Given the description of an element on the screen output the (x, y) to click on. 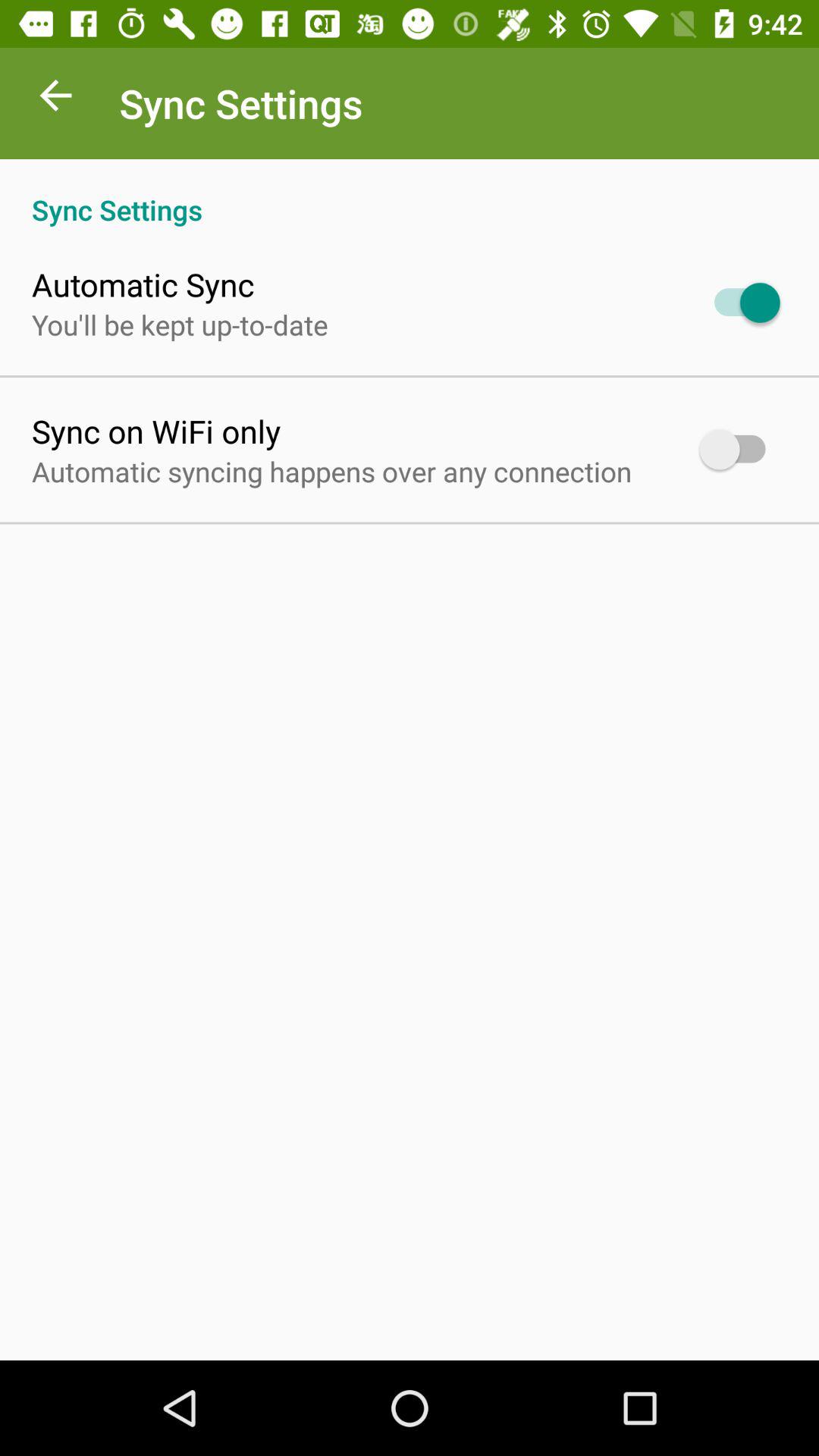
go back (55, 99)
